Given the description of an element on the screen output the (x, y) to click on. 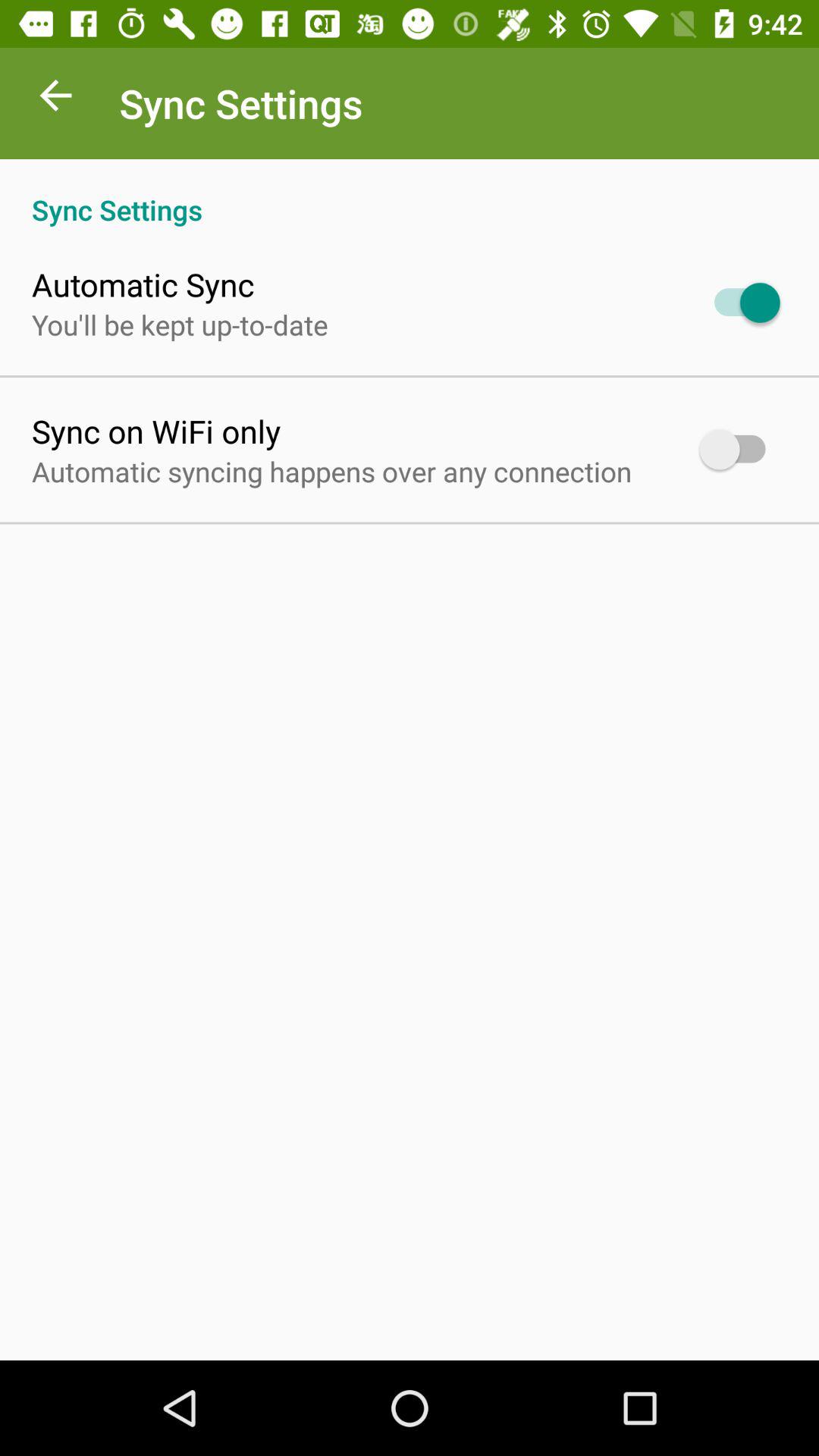
go back (55, 99)
